Given the description of an element on the screen output the (x, y) to click on. 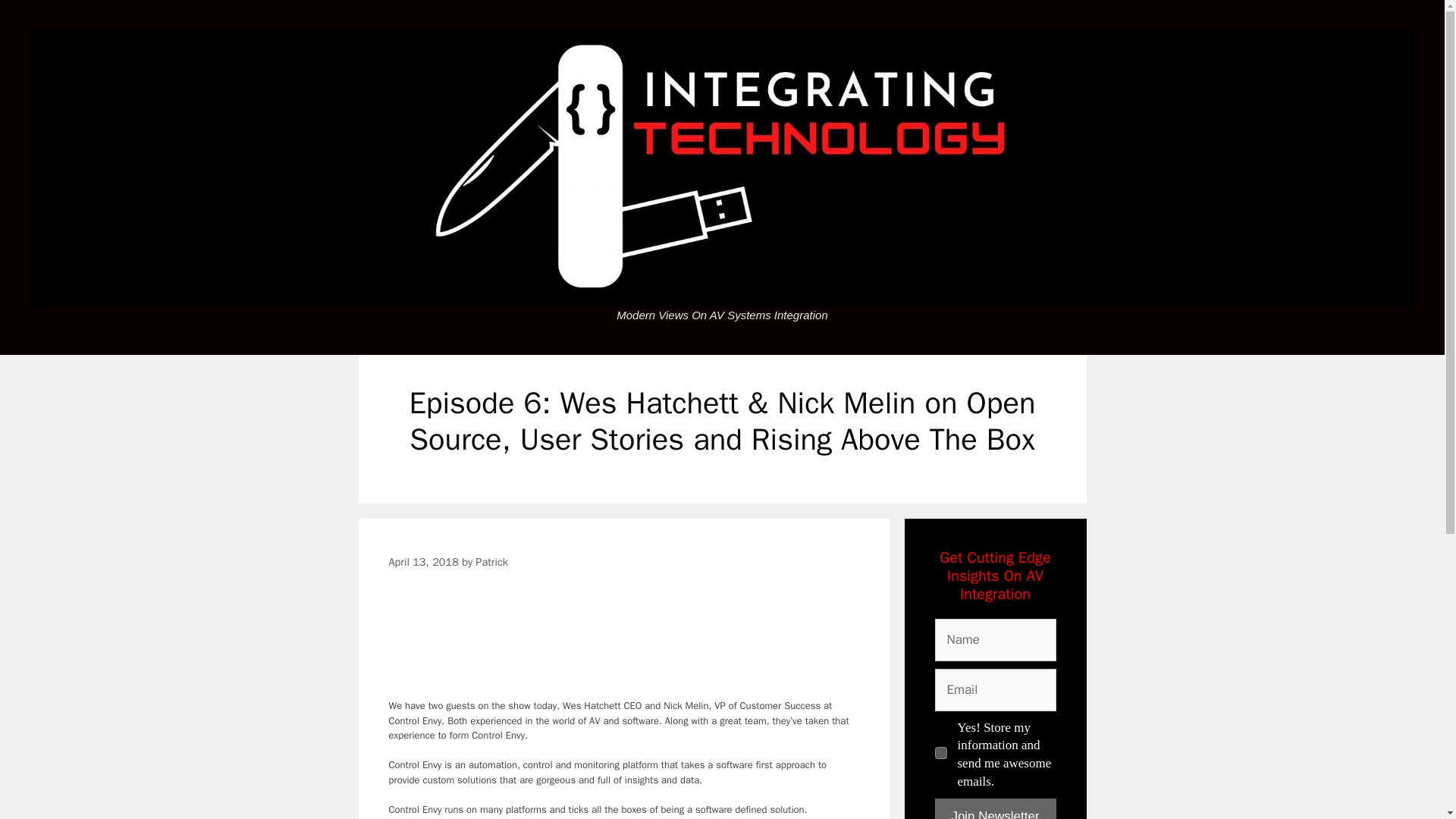
View all posts by Patrick (492, 561)
April 13, 2018 (423, 561)
Patrick (492, 561)
Join Newsletter (994, 808)
Join Newsletter (994, 808)
on (940, 752)
Integrating Technology (721, 167)
8:07 am (423, 561)
